Given the description of an element on the screen output the (x, y) to click on. 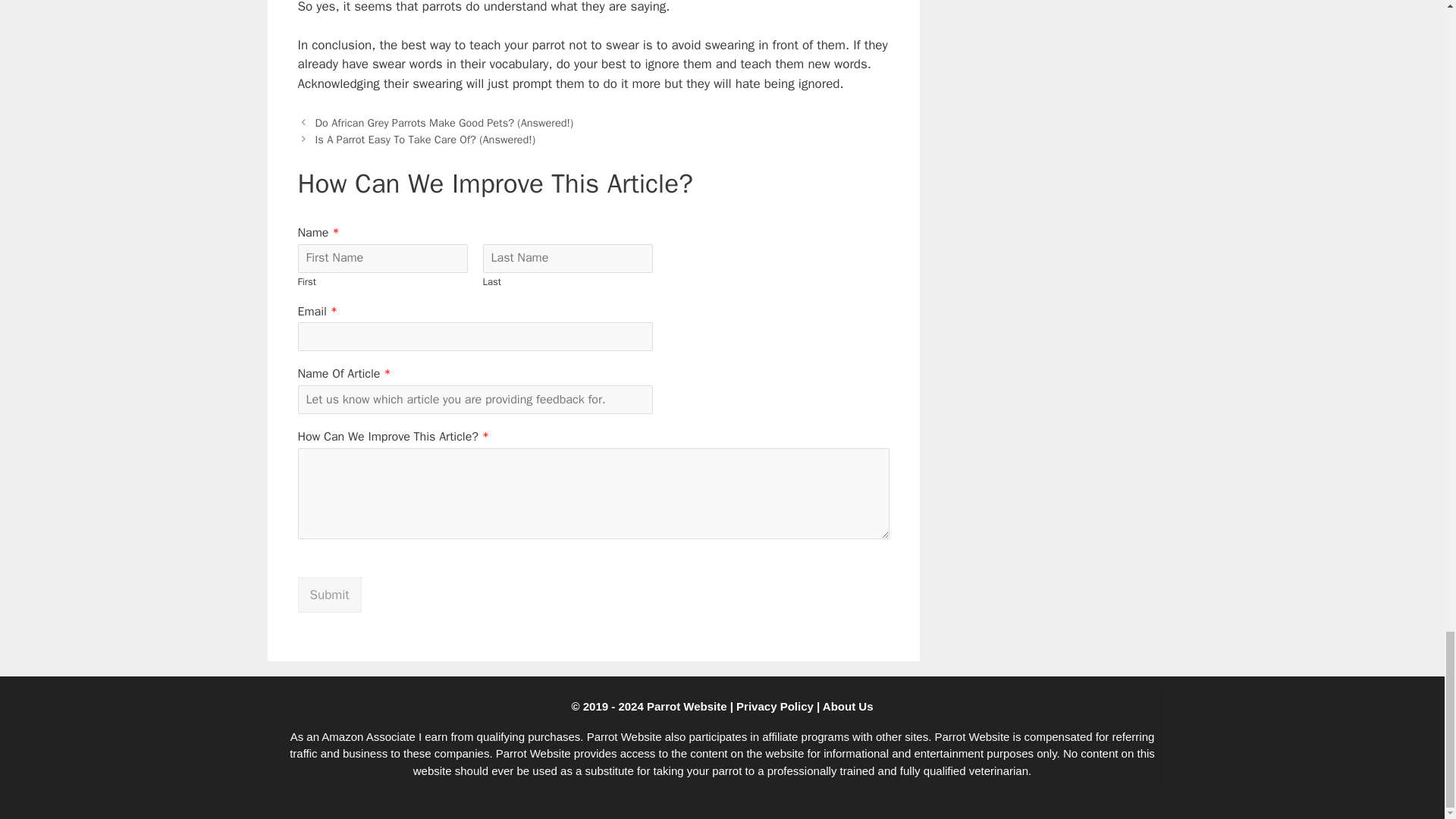
About Us (847, 706)
Privacy Policy (774, 706)
Submit (329, 595)
